Given the description of an element on the screen output the (x, y) to click on. 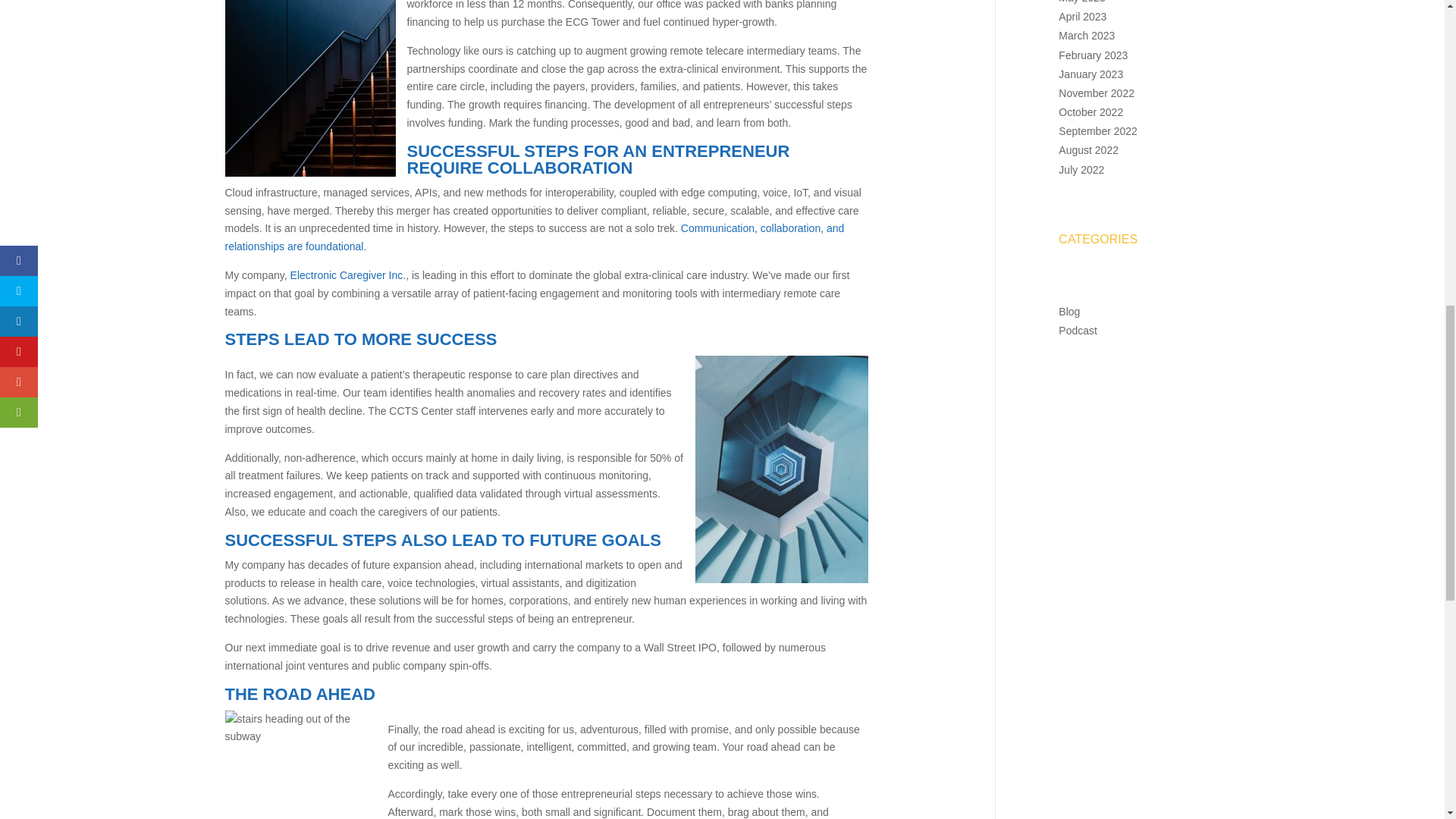
January 2023 (1090, 73)
Electronic Caregiver Inc. (347, 275)
September 2022 (1097, 131)
July 2022 (1080, 169)
August 2022 (1088, 150)
March 2023 (1086, 35)
February 2023 (1092, 55)
May 2023 (1081, 2)
October 2022 (1090, 111)
